Given the description of an element on the screen output the (x, y) to click on. 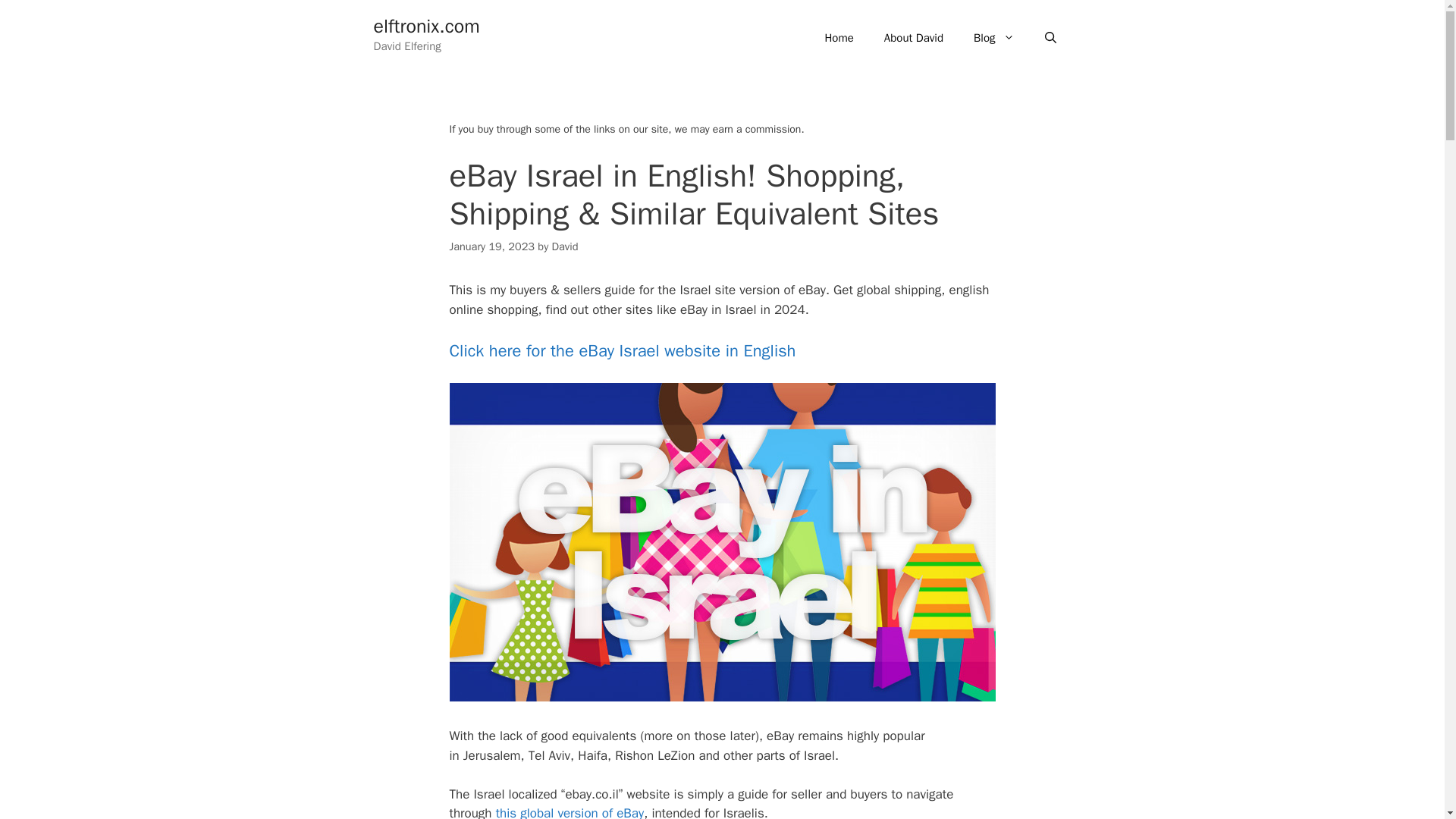
Click here for the eBay Israel website in English (621, 350)
elftronix.com (425, 25)
David (564, 246)
Home (838, 37)
About David (913, 37)
this global version of eBay (570, 812)
Blog (993, 37)
View all posts by David (564, 246)
